Given the description of an element on the screen output the (x, y) to click on. 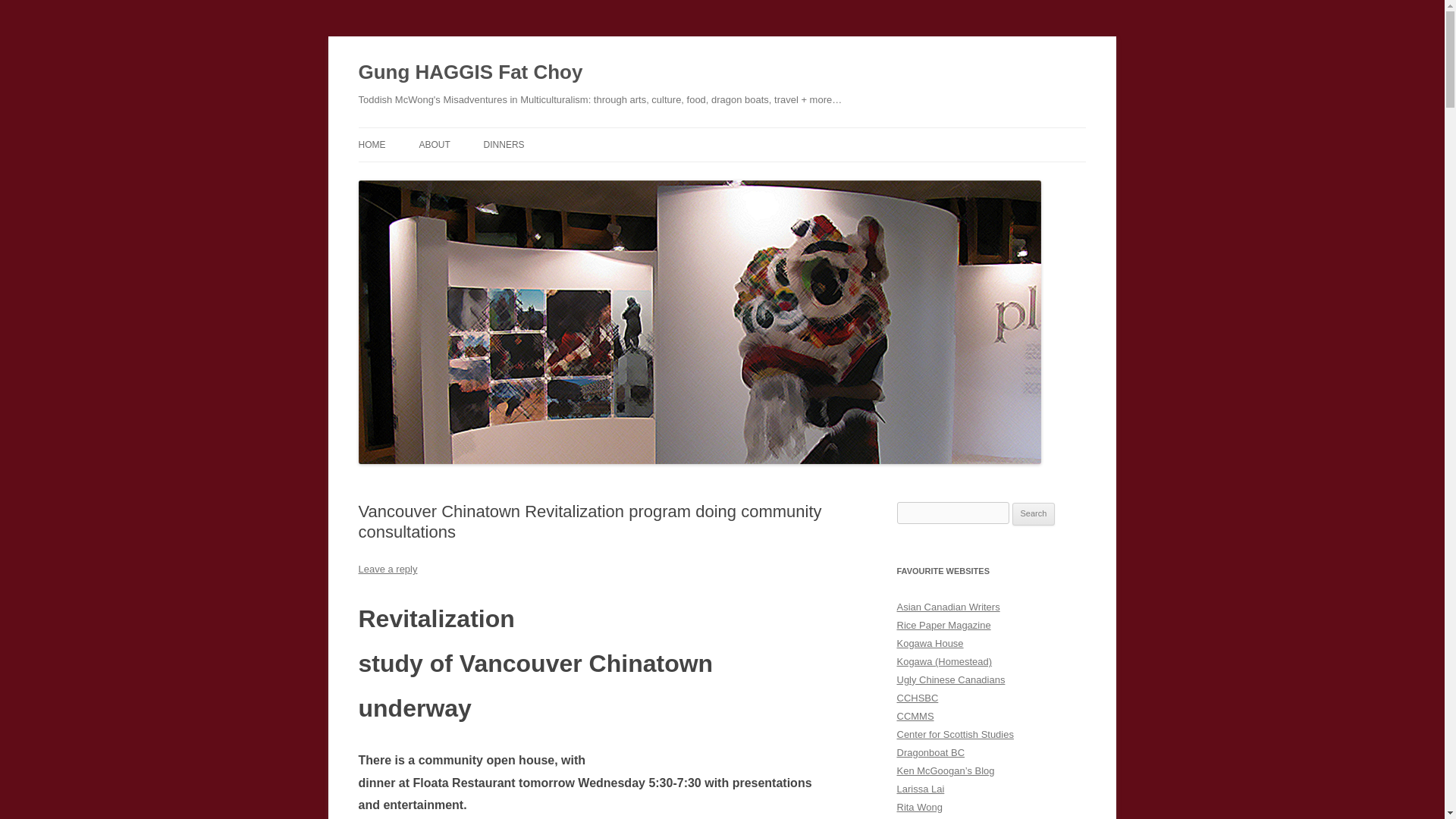
ABOUT (434, 144)
Rice Paper Magazine (943, 624)
Center for Scottish Studies (954, 734)
CCHSBC (916, 697)
Search (1033, 513)
Asian Canadian Writers (947, 606)
Gung HAGGIS Fat Choy (470, 72)
Ugly Chinese Canadians (950, 679)
Dragonboat BC (929, 752)
